Given the description of an element on the screen output the (x, y) to click on. 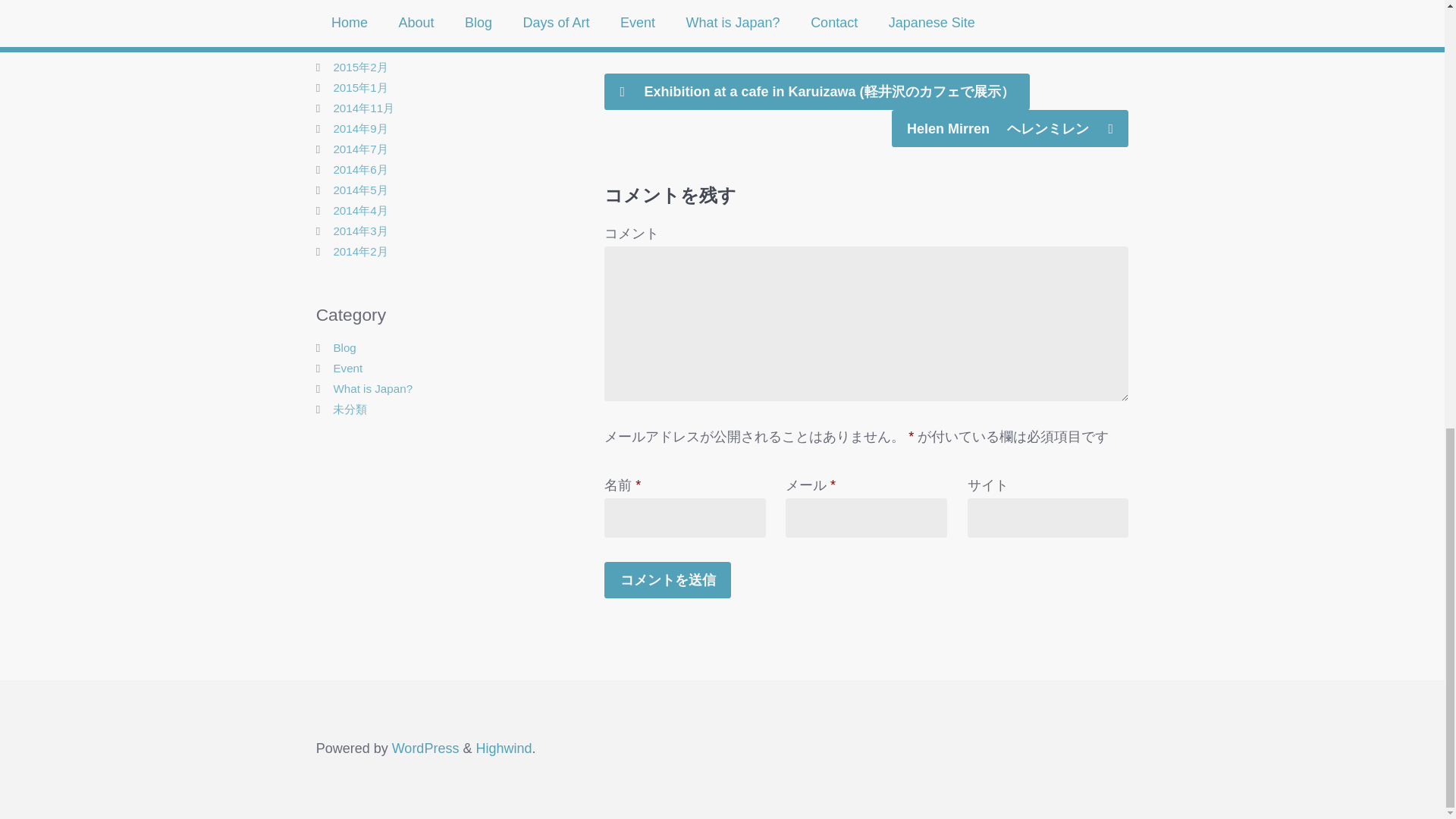
WordPress.org (425, 748)
Highwind - Customisable and extendable WordPress theme (503, 748)
